Given the description of an element on the screen output the (x, y) to click on. 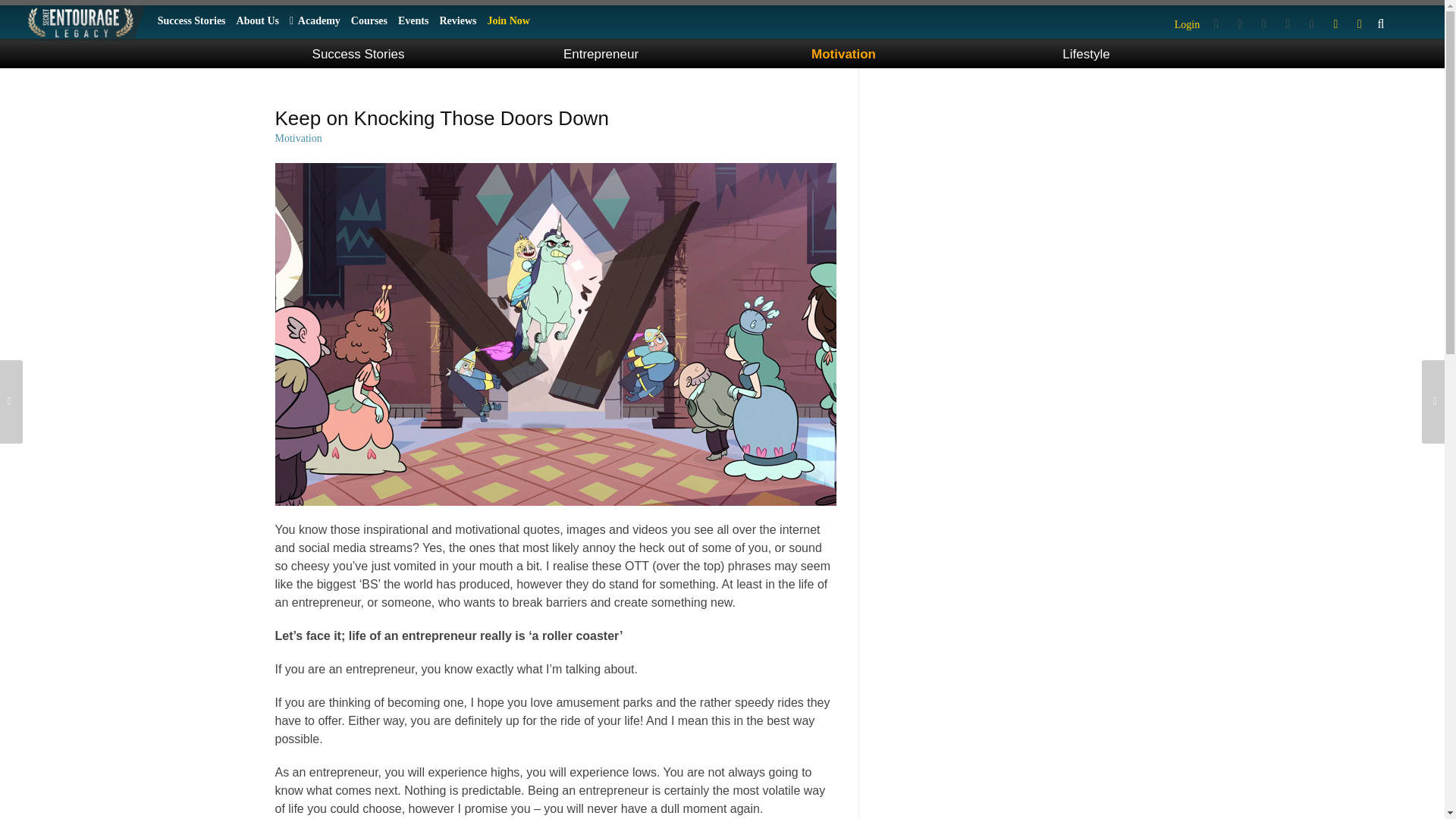
Courses (369, 20)
Entrepreneur (600, 53)
Motivation (298, 138)
Academy (314, 20)
Motivation (843, 53)
Home (83, 21)
Motivation (843, 53)
Success Stories (358, 53)
Search (1380, 15)
Login (1187, 24)
